Given the description of an element on the screen output the (x, y) to click on. 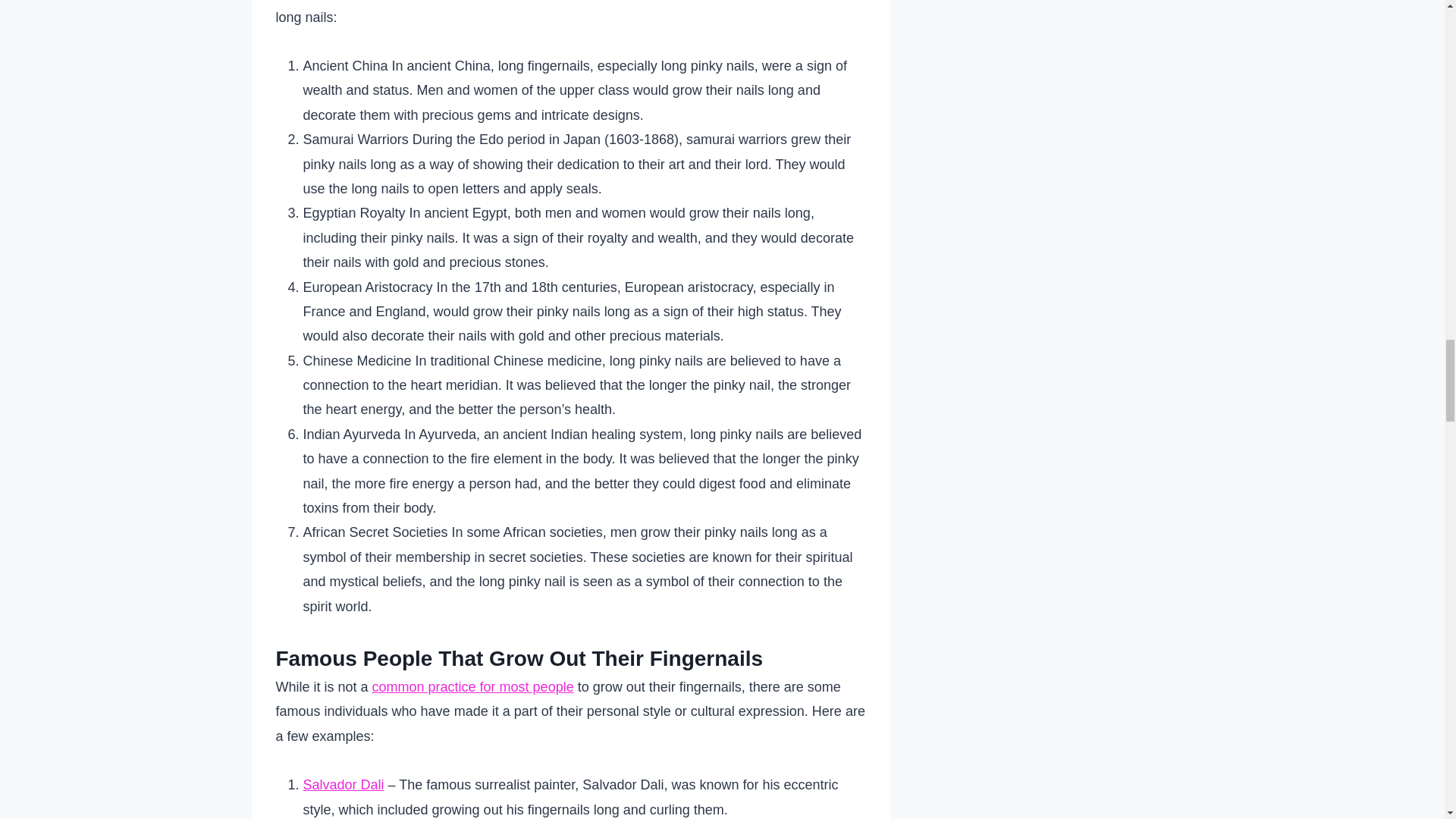
Salvador Dali (343, 784)
common practice for most people (472, 686)
